Given the description of an element on the screen output the (x, y) to click on. 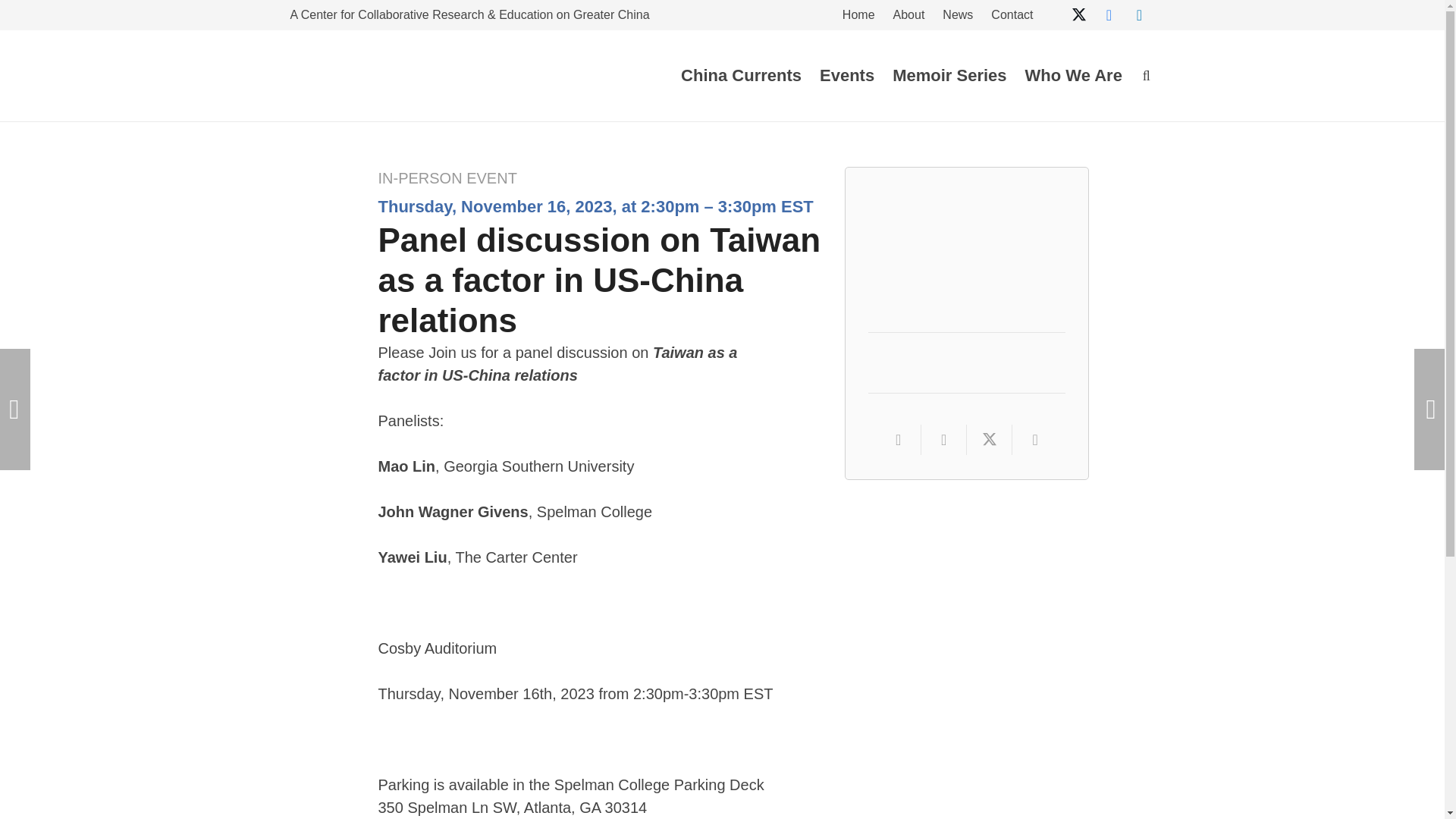
Email this (898, 440)
China Currents (740, 75)
About (908, 17)
Events (846, 75)
Share this (943, 440)
News (957, 17)
Who We Are (1073, 75)
Facebook (1108, 15)
Memoir Series (948, 75)
Contact (1011, 17)
Tweet this (988, 440)
LinkedIn (1139, 15)
Share this (1034, 440)
Twitter (1077, 15)
Home (857, 17)
